Given the description of an element on the screen output the (x, y) to click on. 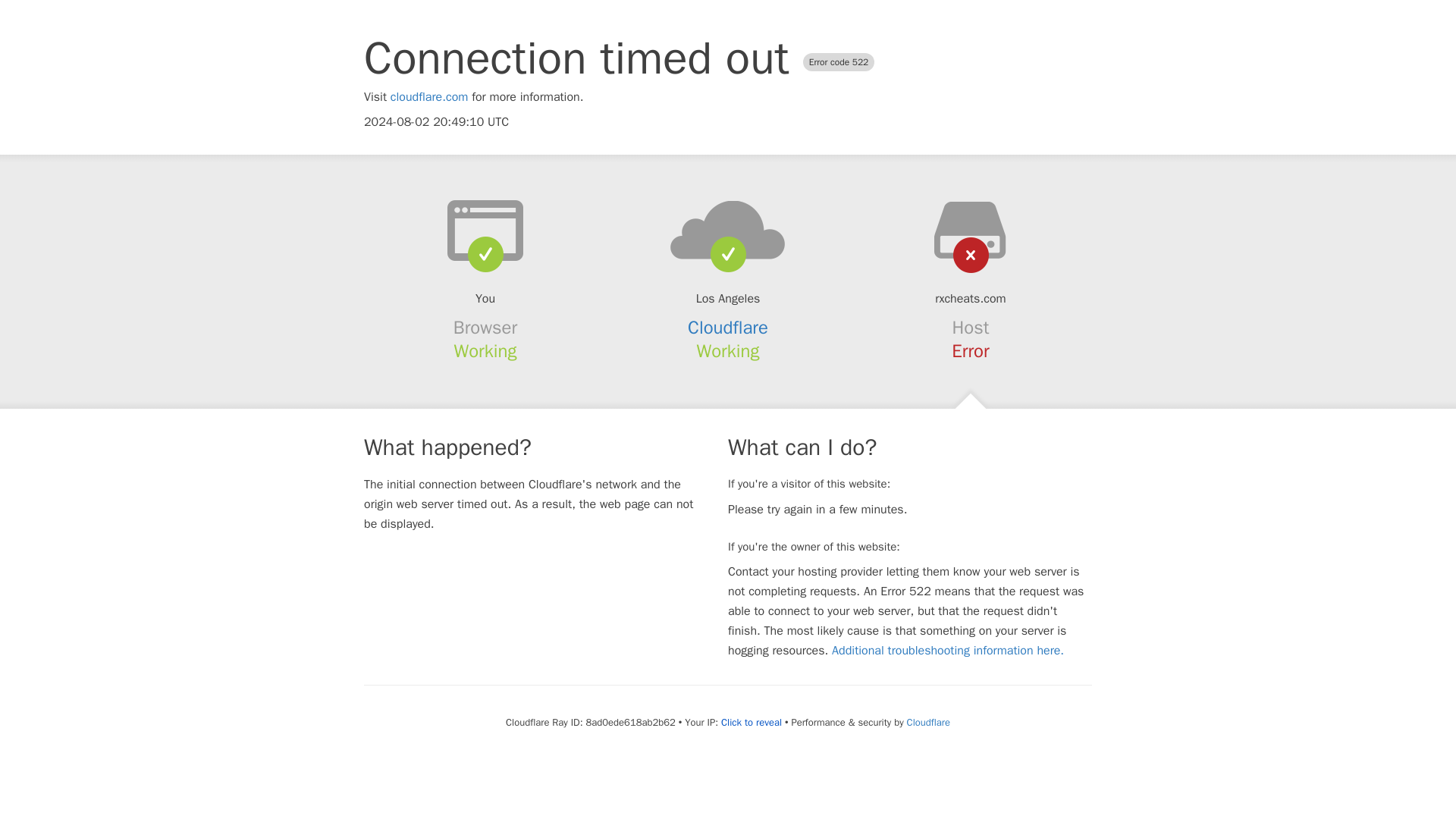
Additional troubleshooting information here. (947, 650)
Cloudflare (928, 721)
Click to reveal (750, 722)
cloudflare.com (429, 96)
Cloudflare (727, 327)
